Given the description of an element on the screen output the (x, y) to click on. 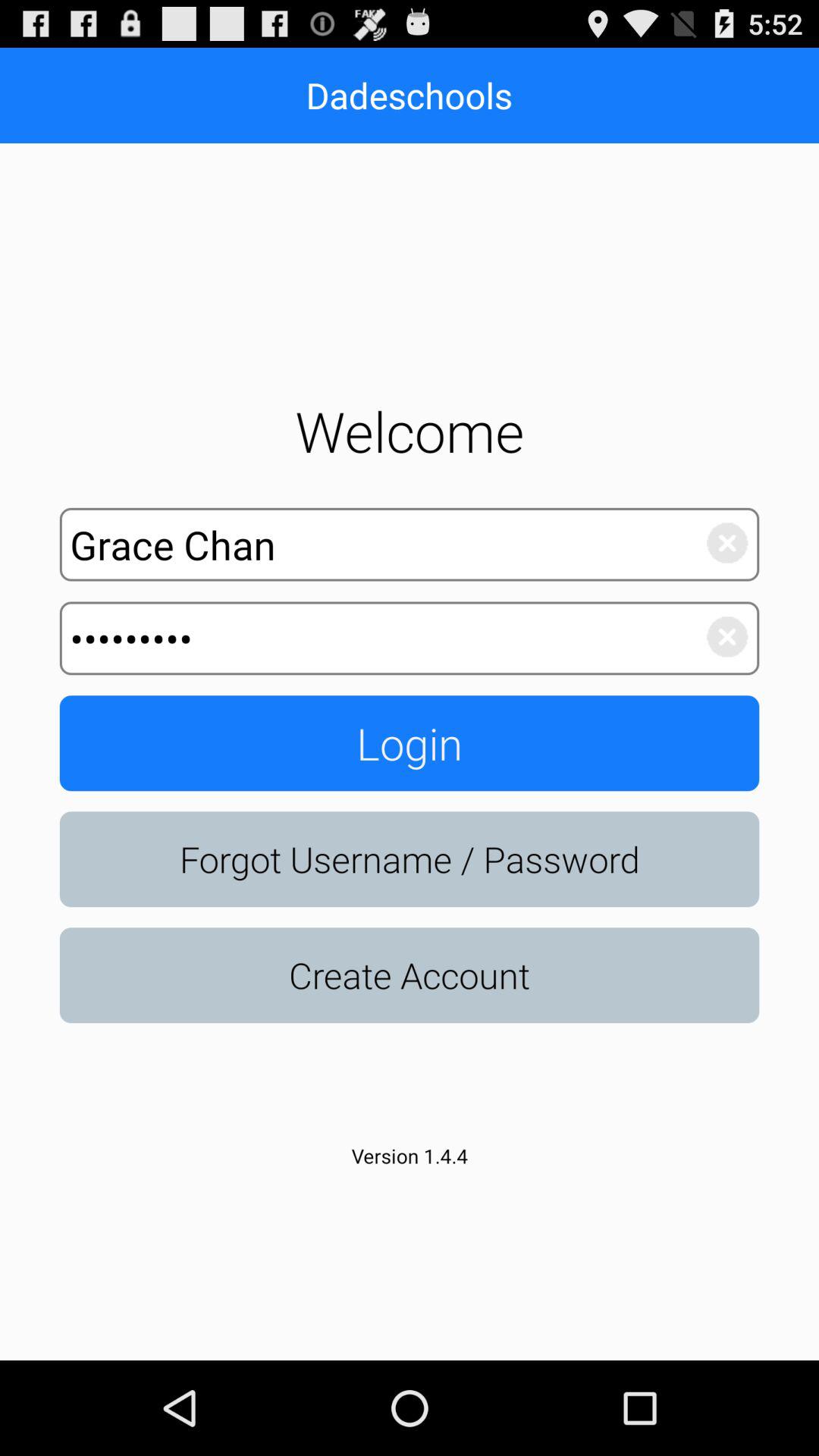
delete text (719, 638)
